Given the description of an element on the screen output the (x, y) to click on. 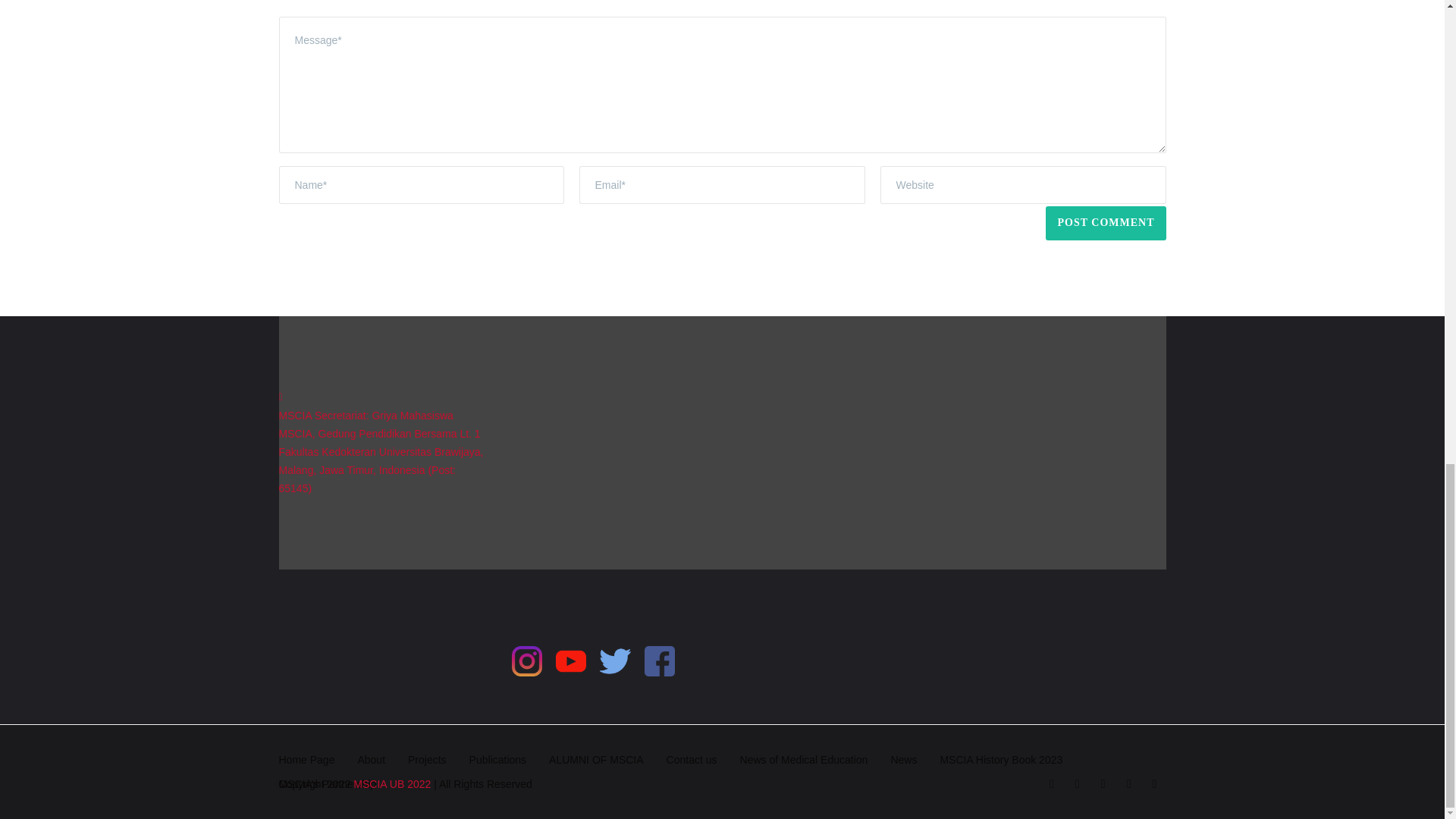
Post Comment (1105, 223)
Projects (426, 759)
About (370, 759)
Post Comment (1105, 223)
Publications (497, 759)
Home Page (306, 759)
